Given the description of an element on the screen output the (x, y) to click on. 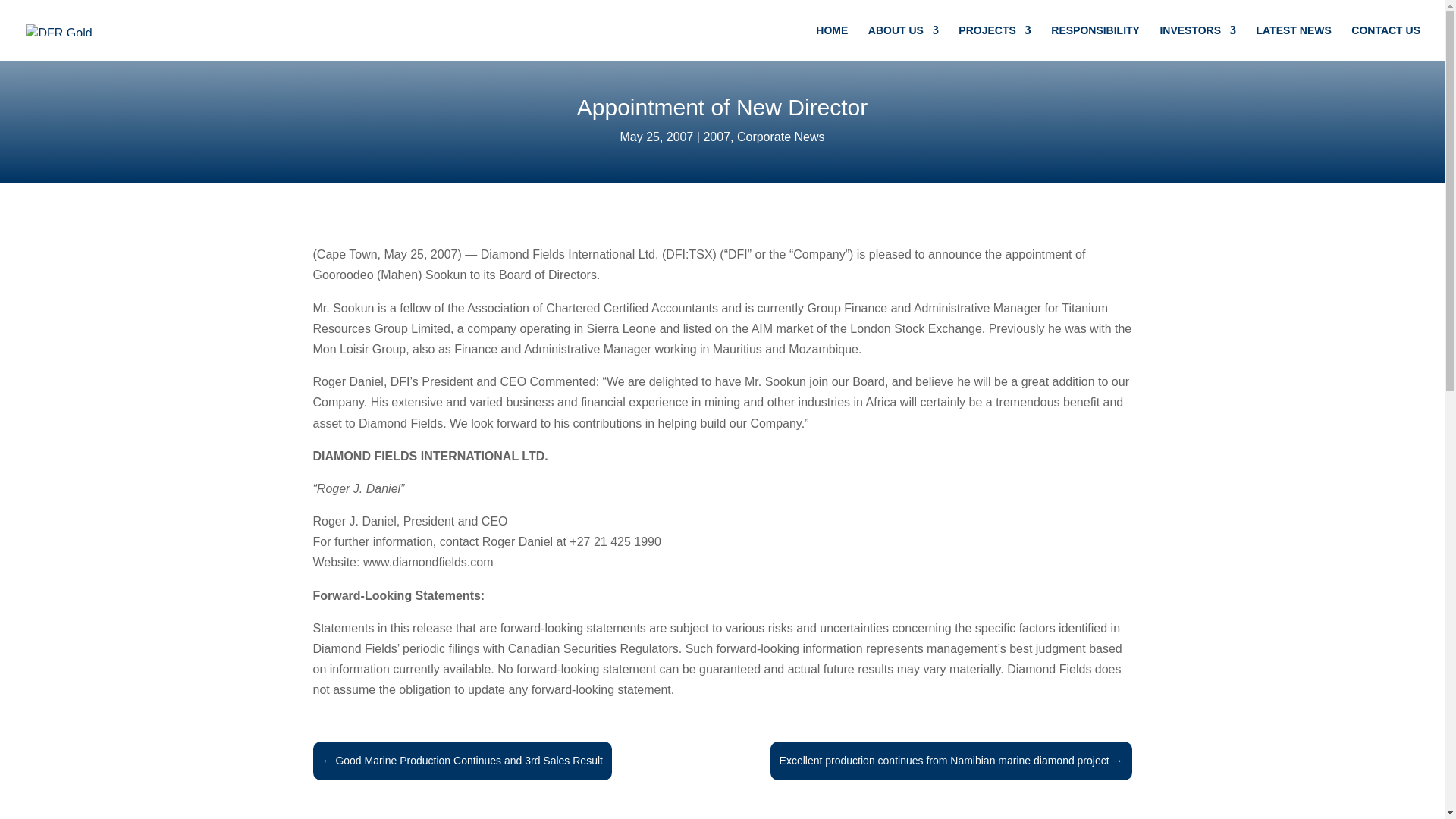
INVESTORS (1197, 42)
LATEST NEWS (1294, 42)
RESPONSIBILITY (1095, 42)
HOME (831, 42)
PROJECTS (994, 42)
CONTACT US (1386, 42)
Corporate News (780, 136)
2007 (716, 136)
ABOUT US (903, 42)
